Given the description of an element on the screen output the (x, y) to click on. 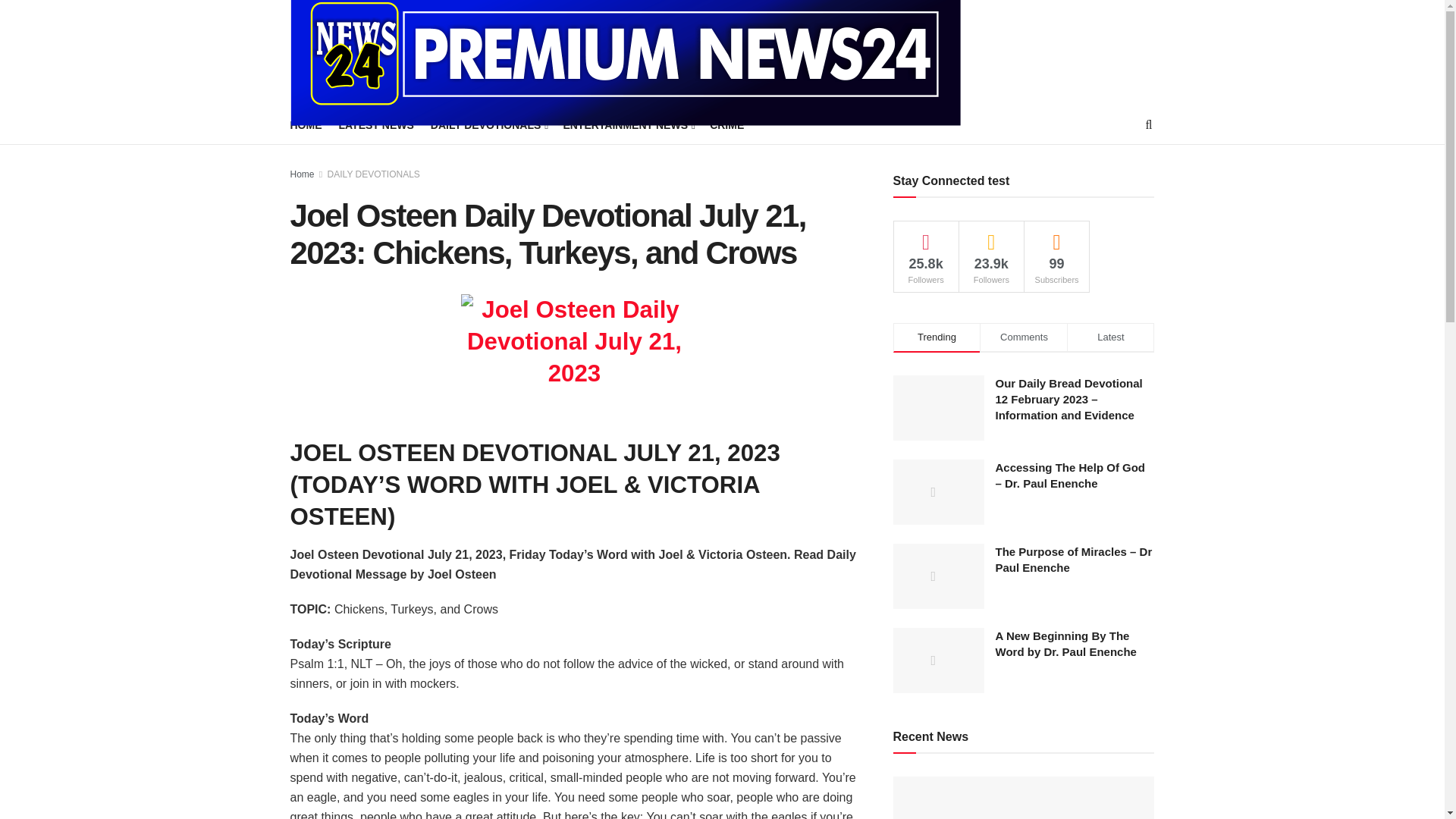
LATEST NEWS (375, 124)
HOME (305, 124)
ENTERTAINMENT NEWS (627, 124)
DAILY DEVOTIONALS (373, 173)
CRIME (727, 124)
DAILY DEVOTIONALS (488, 124)
Home (301, 173)
